Given the description of an element on the screen output the (x, y) to click on. 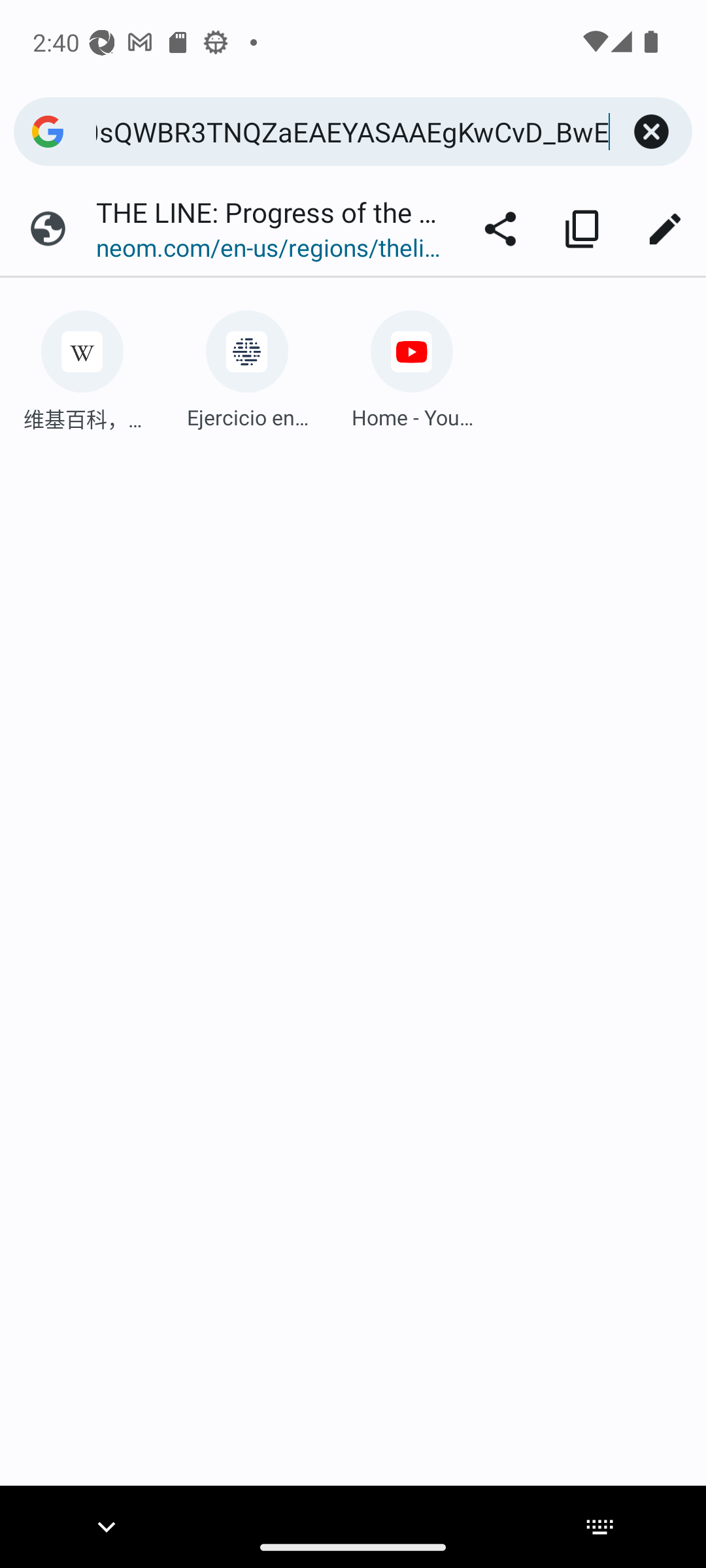
Clear input (650, 131)
Share… (499, 228)
Copy link (582, 228)
Edit (664, 228)
维基百科，自由的百科全书: zh.m.wikipedia.org 维基百科，自由的百科全书 (82, 364)
Home - YouTube: m.youtube.com Home - YouTube (411, 364)
